Given the description of an element on the screen output the (x, y) to click on. 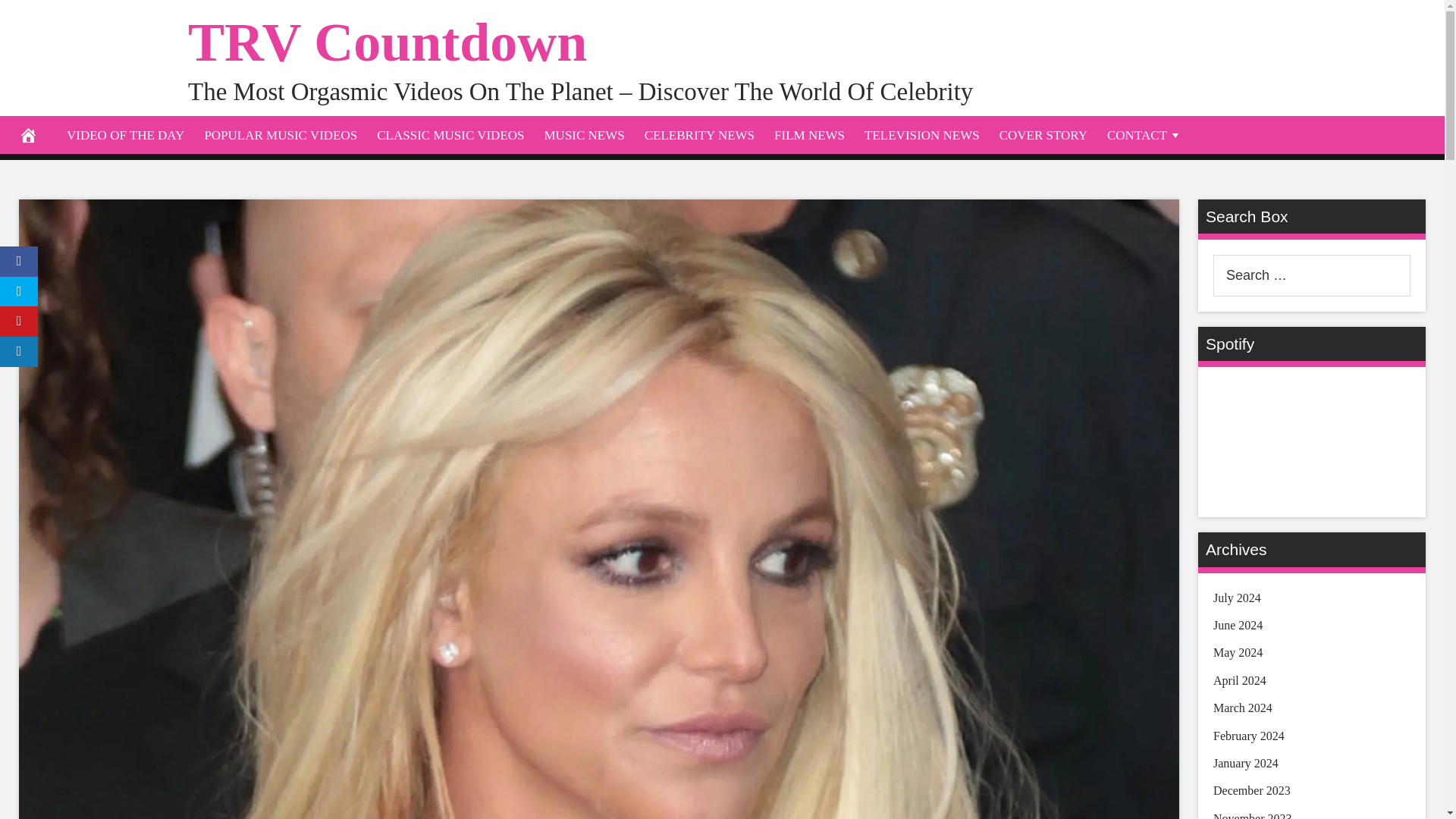
TRV Countdown (386, 42)
COVER STORY (1043, 134)
VIDEO OF THE DAY (124, 134)
FILM NEWS (809, 134)
CELEBRITY NEWS (699, 134)
TELEVISION NEWS (922, 134)
MUSIC NEWS (583, 134)
Spotify Embed: Top Requested Videos Countdown  (1311, 439)
CONTACT (1144, 134)
CLASSIC MUSIC VIDEOS (450, 134)
POPULAR MUSIC VIDEOS (279, 134)
